Given the description of an element on the screen output the (x, y) to click on. 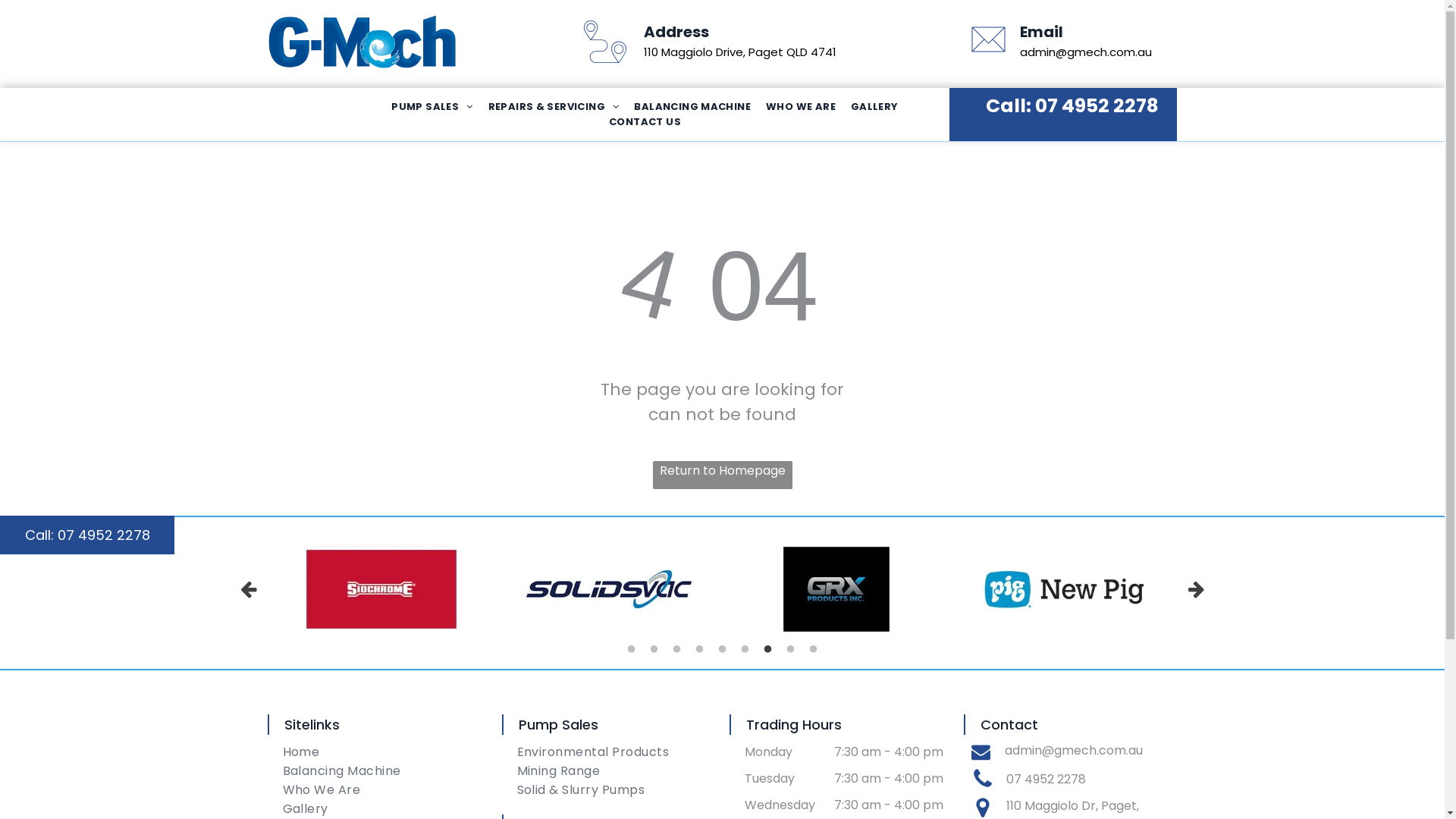
GALLERY Element type: text (875, 106)
Gallery Element type: text (381, 808)
3 Element type: text (676, 649)
1 Element type: text (630, 649)
07 4952 2278 Element type: text (1045, 778)
G-Mech: Supplying & Servicing Pumps in Mackay Element type: hover (362, 38)
Return to Homepage Element type: text (721, 475)
admin@gmech.com.au Element type: text (1085, 51)
Mining Range Element type: text (616, 770)
Who We Are Element type: text (381, 789)
4 Element type: text (698, 649)
6 Element type: text (744, 649)
WHO WE ARE Element type: text (801, 106)
Environmental Products Element type: text (616, 751)
5 Element type: text (721, 649)
PUMP SALES Element type: text (433, 106)
9 Element type: text (812, 649)
CONTACT US Element type: text (646, 121)
Balancing Machine Element type: text (381, 770)
8 Element type: text (789, 649)
110 Maggiolo Drive, Paget QLD 4741 Element type: text (739, 51)
7 Element type: text (767, 649)
Solid & Slurry Pumps Element type: text (616, 789)
07 4952 2278 Element type: text (1096, 105)
Home Element type: text (381, 751)
BALANCING MACHINE Element type: text (693, 106)
admin@gmech.com.au Element type: text (1073, 750)
REPAIRS & SERVICING Element type: text (555, 106)
2 Element type: text (653, 649)
